Given the description of an element on the screen output the (x, y) to click on. 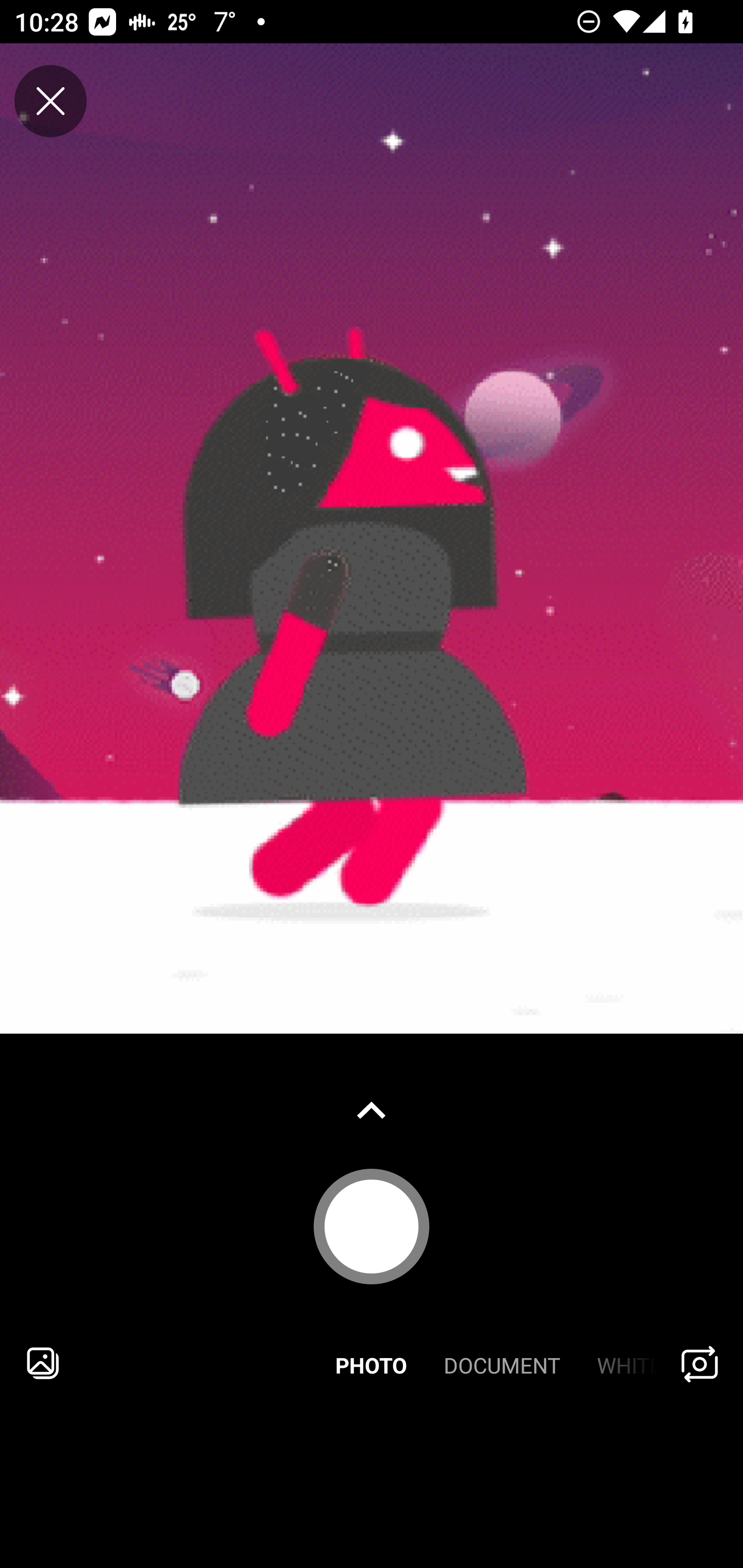
Close (50, 101)
Show gallery (371, 1110)
Capture (371, 1226)
Import (43, 1363)
Flip Camera (699, 1363)
PHOTO (371, 1362)
DOCUMENT (502, 1362)
WHITEBOARD (619, 1362)
